Given the description of an element on the screen output the (x, y) to click on. 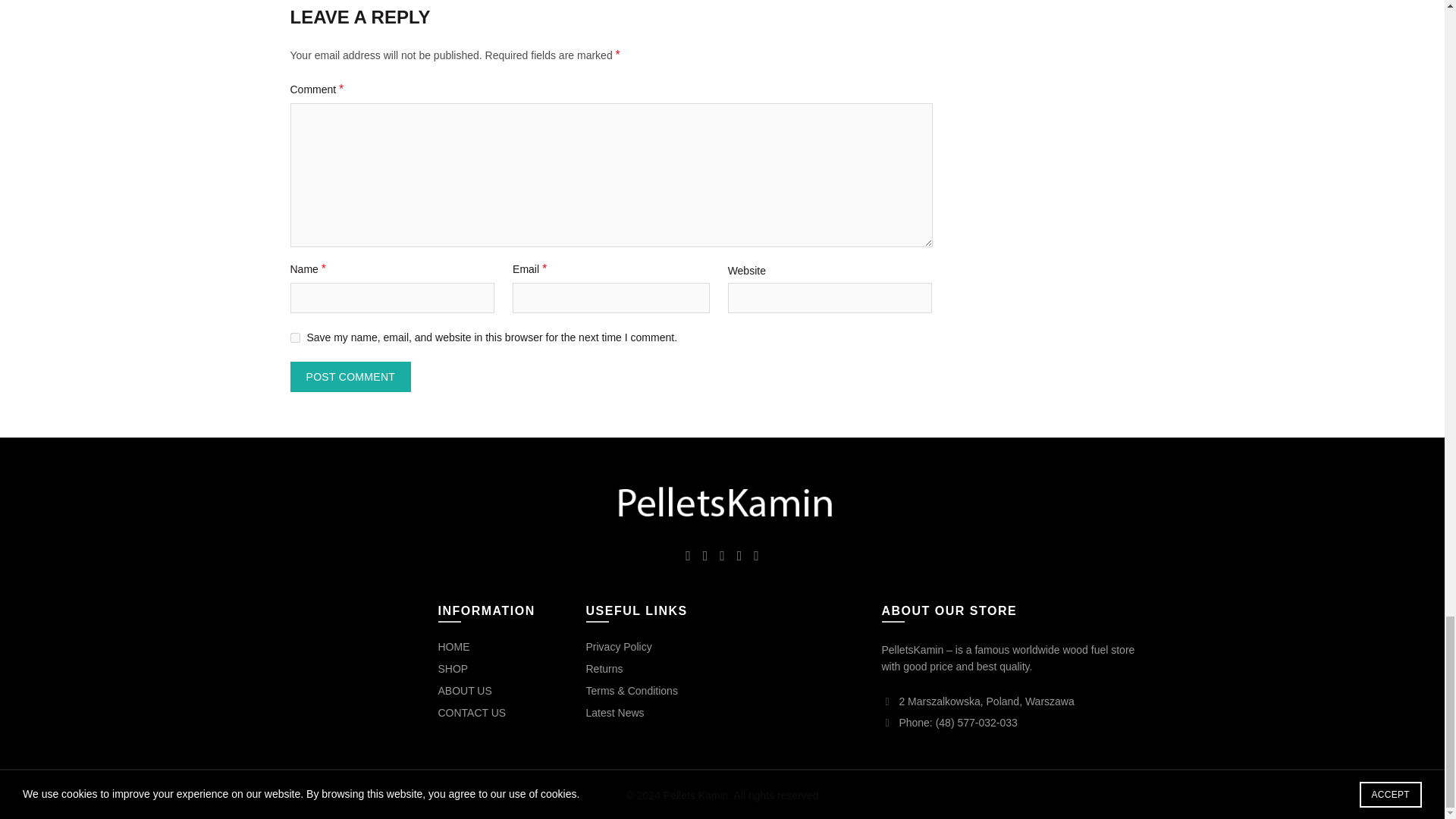
Post Comment (349, 376)
yes (294, 337)
Pellets Kamin (721, 502)
